Given the description of an element on the screen output the (x, y) to click on. 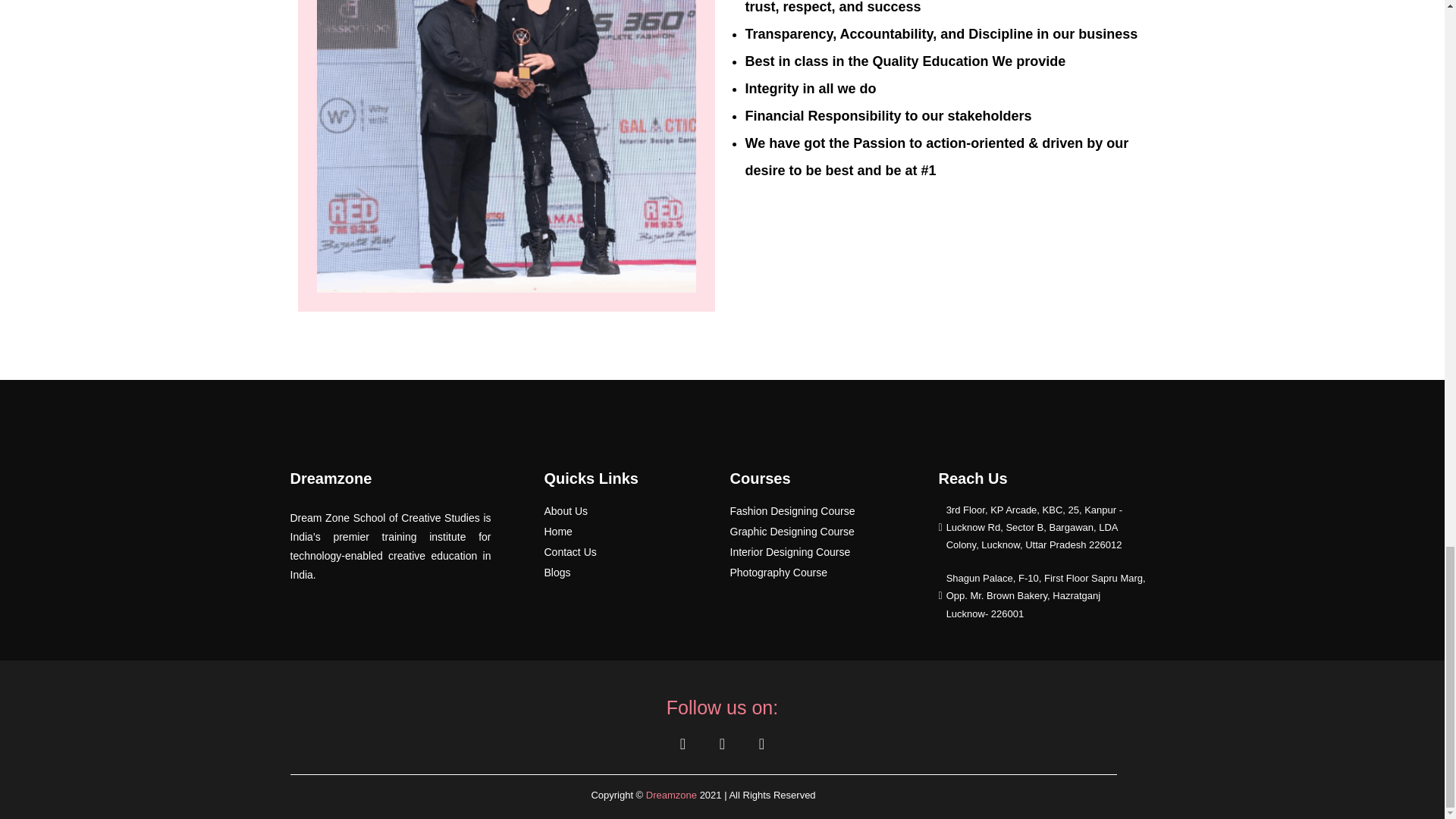
Contact Us (570, 551)
About Us (566, 510)
Home (558, 531)
